Given the description of an element on the screen output the (x, y) to click on. 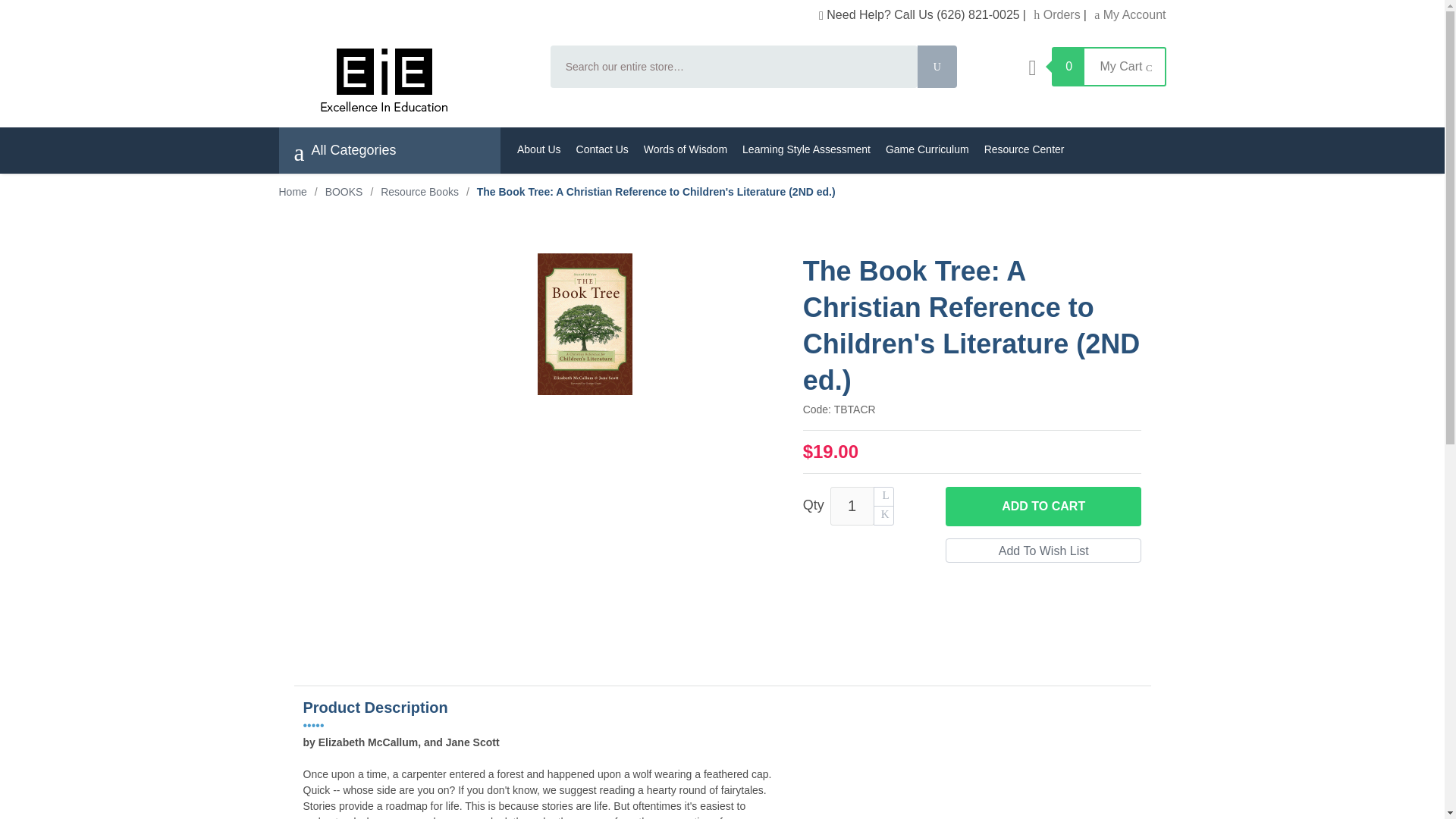
Search (936, 66)
Excellence In Education (405, 79)
1 (852, 505)
Resource Books (419, 191)
BOOKS (343, 191)
Home (293, 191)
Add To Wish List (1042, 550)
